Given the description of an element on the screen output the (x, y) to click on. 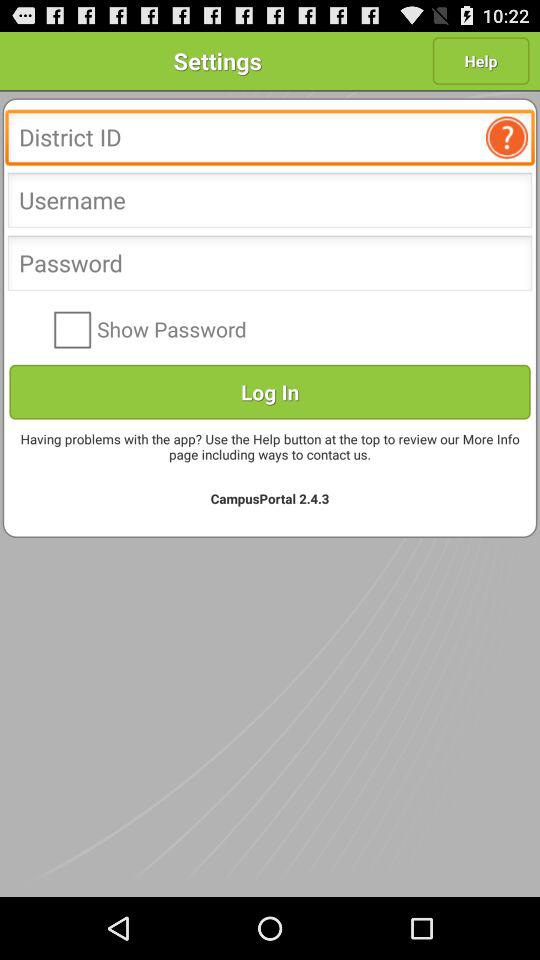
select the item above the log in (290, 328)
